Given the description of an element on the screen output the (x, y) to click on. 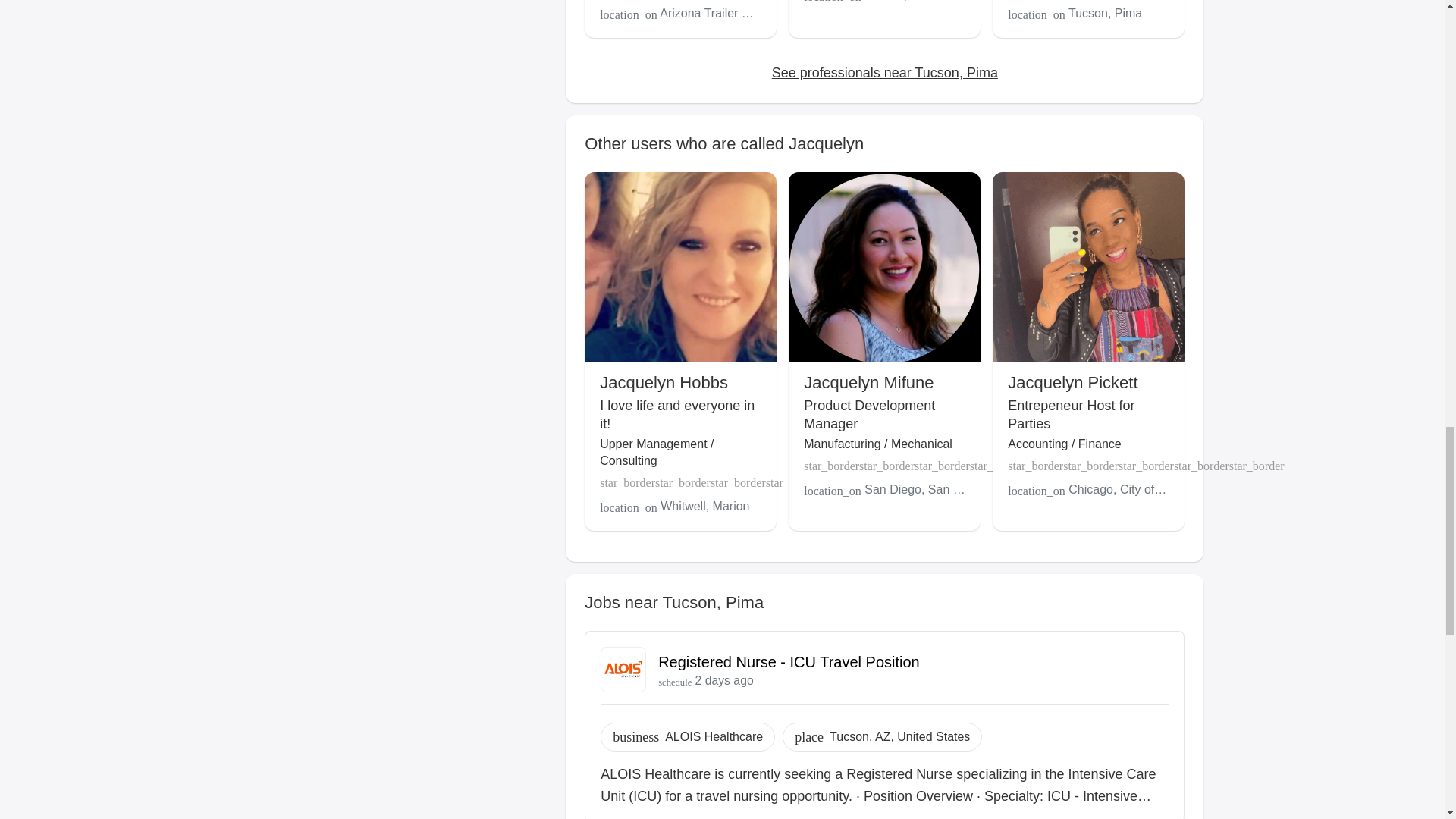
Jacquelyn Mifune (868, 382)
Tucson, AZ, United States (899, 736)
Jacquelyn Hobbs (663, 382)
Registered Nurse - ICU Travel Position (789, 661)
ALOIS Healthcare (713, 736)
Jacquelyn Hobbs (663, 382)
See professionals near Tucson, Pima (884, 72)
Jacquelyn Pickett (1072, 382)
Registered Nurse - ICU Travel Position (789, 661)
Jacquelyn Pickett (1072, 382)
